Given the description of an element on the screen output the (x, y) to click on. 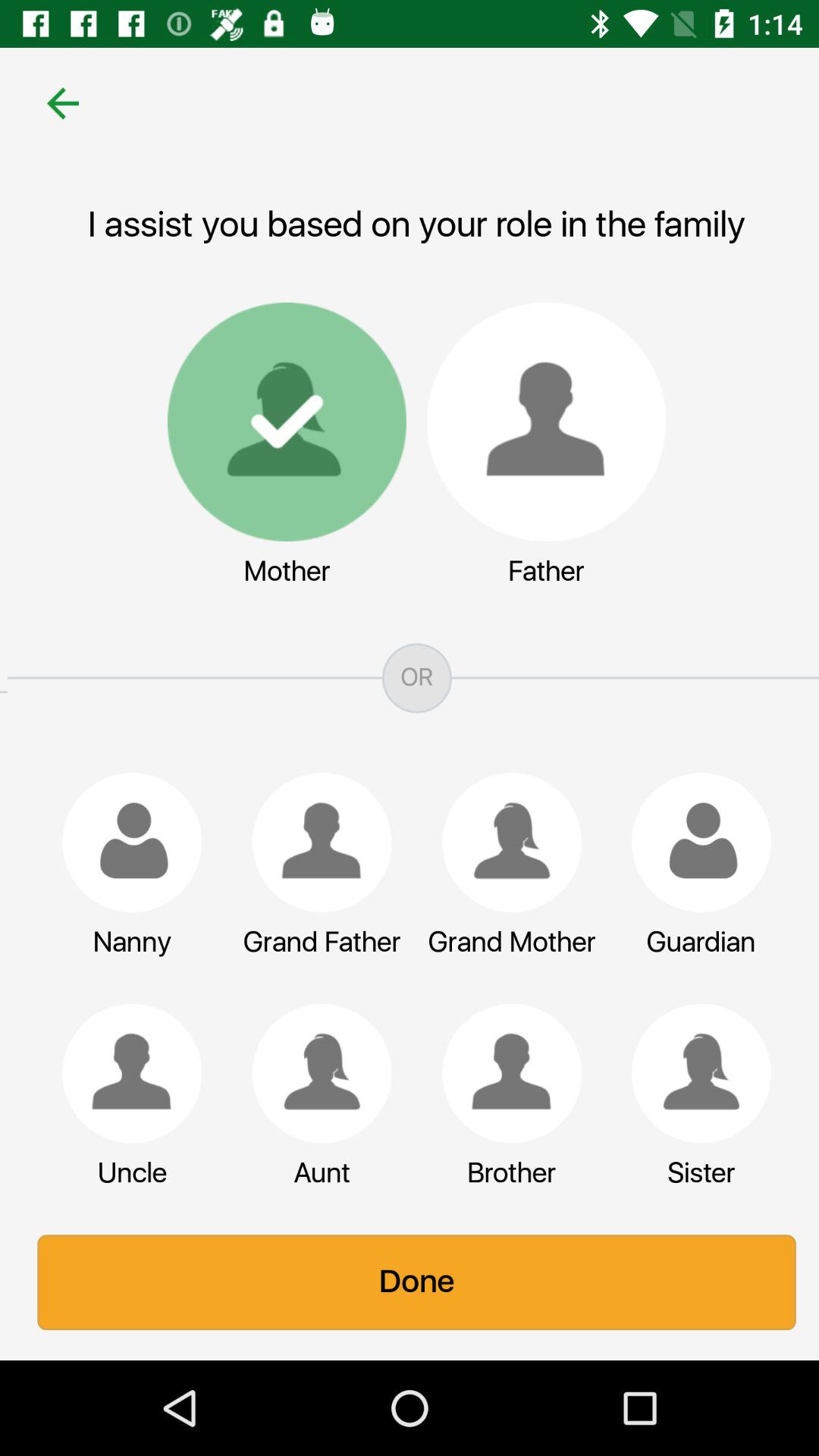
select relative (693, 1073)
